Given the description of an element on the screen output the (x, y) to click on. 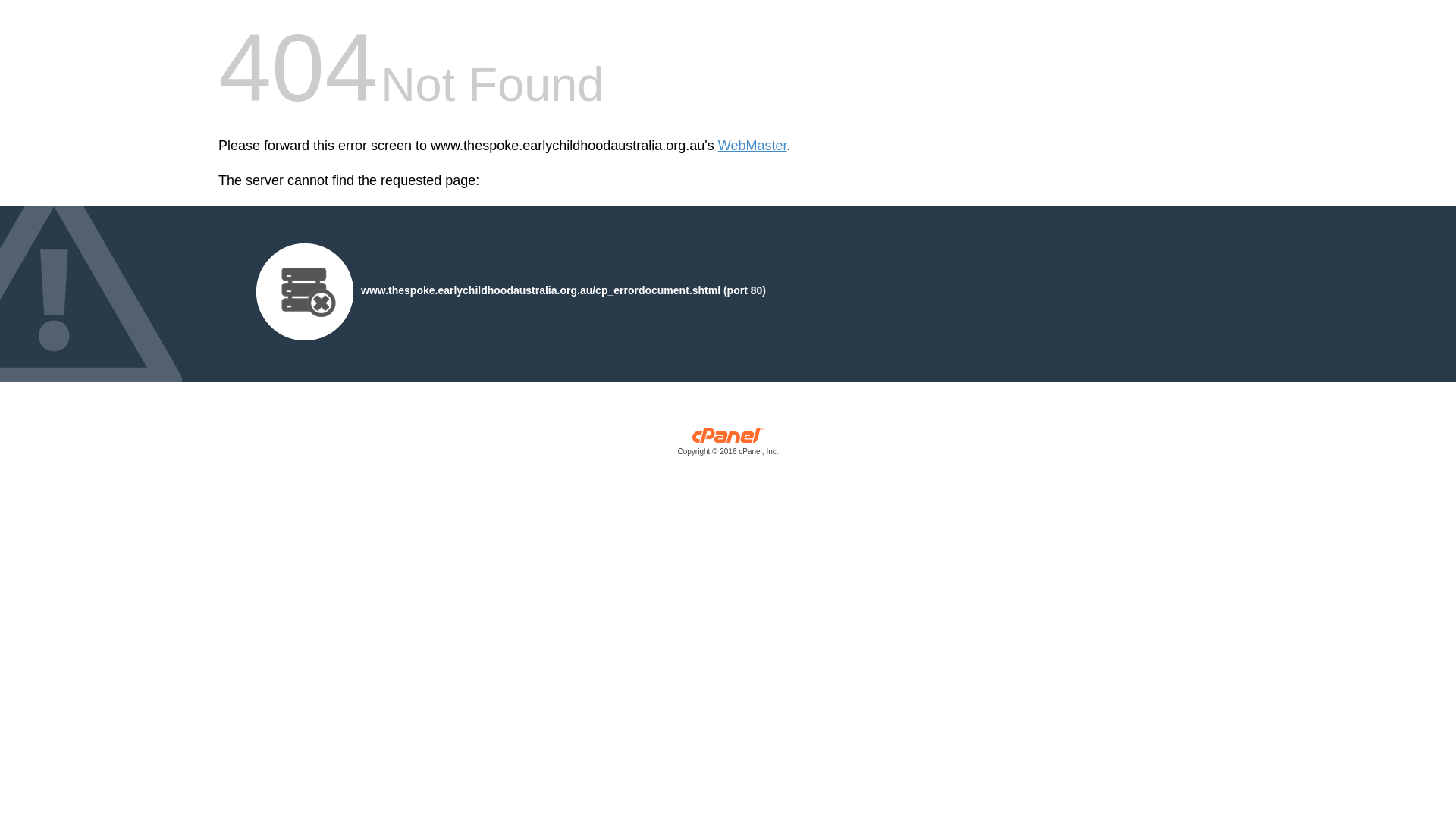
WebMaster Element type: text (752, 145)
